Given the description of an element on the screen output the (x, y) to click on. 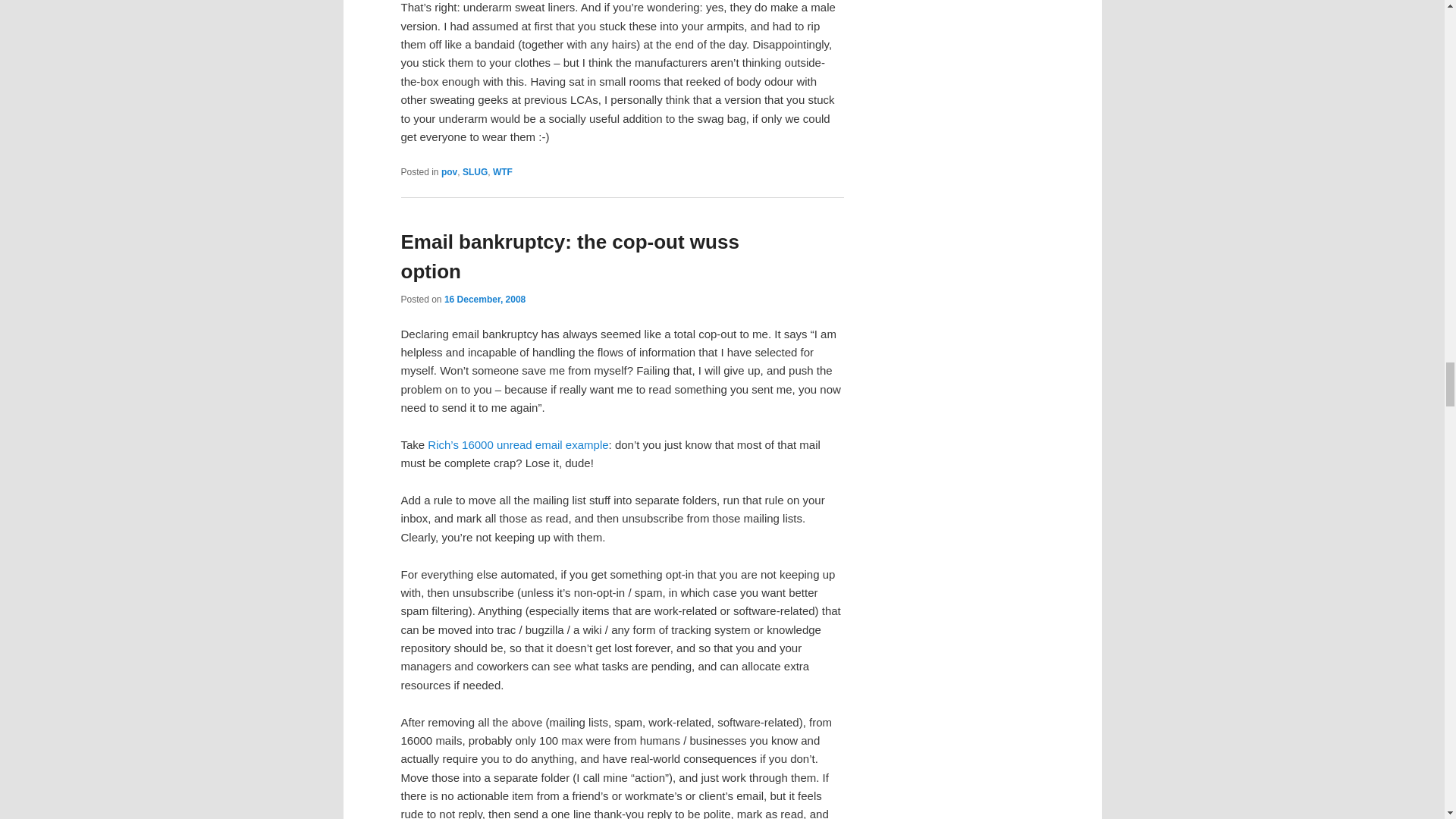
pov (449, 172)
WTF (502, 172)
12:28 pm (484, 299)
Email bankruptcy: the cop-out wuss option (569, 256)
SLUG (475, 172)
16 December, 2008 (484, 299)
